Given the description of an element on the screen output the (x, y) to click on. 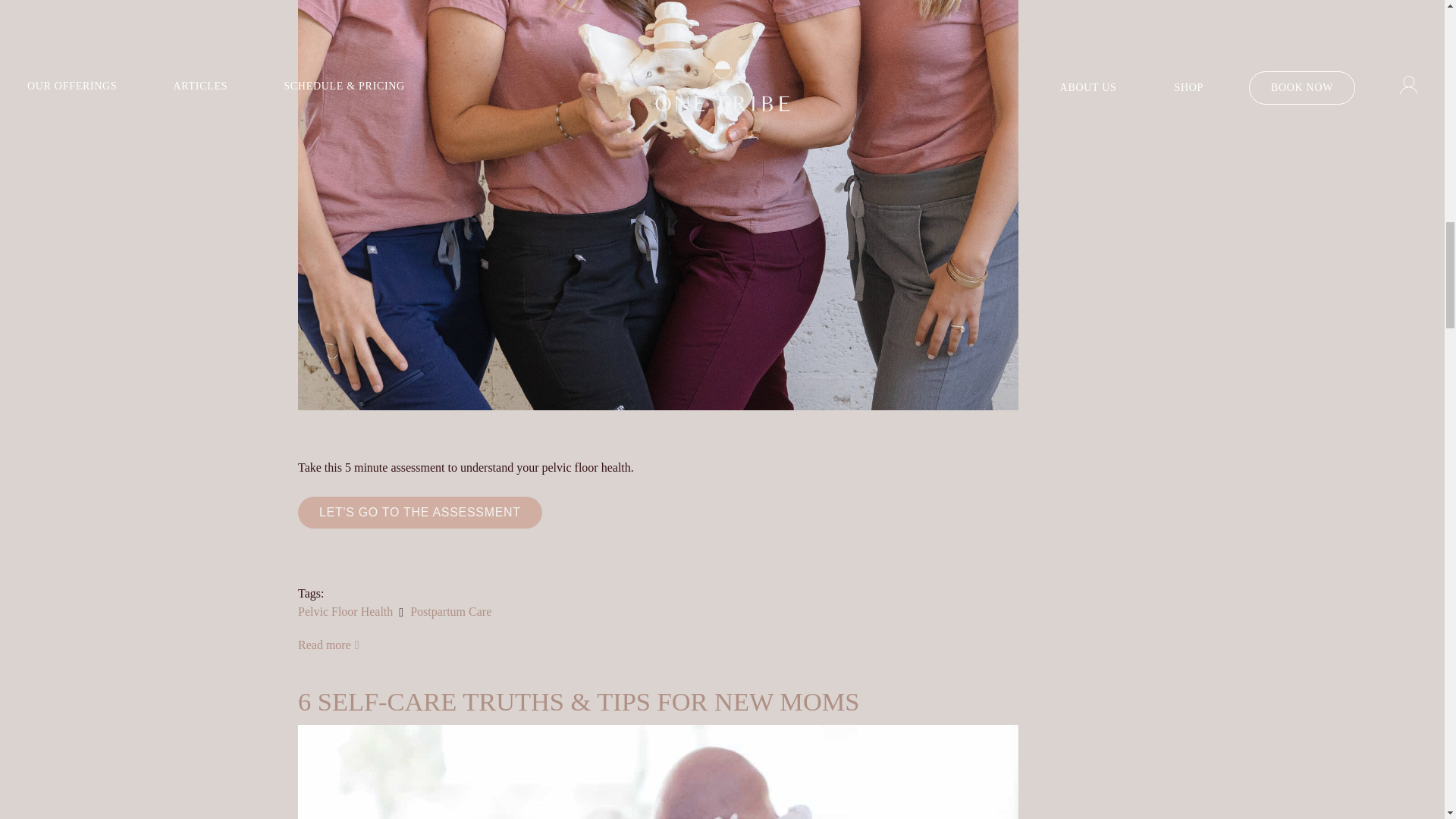
The Silver Bullet Pelvic Floor Assessment We All Need (329, 644)
